Given the description of an element on the screen output the (x, y) to click on. 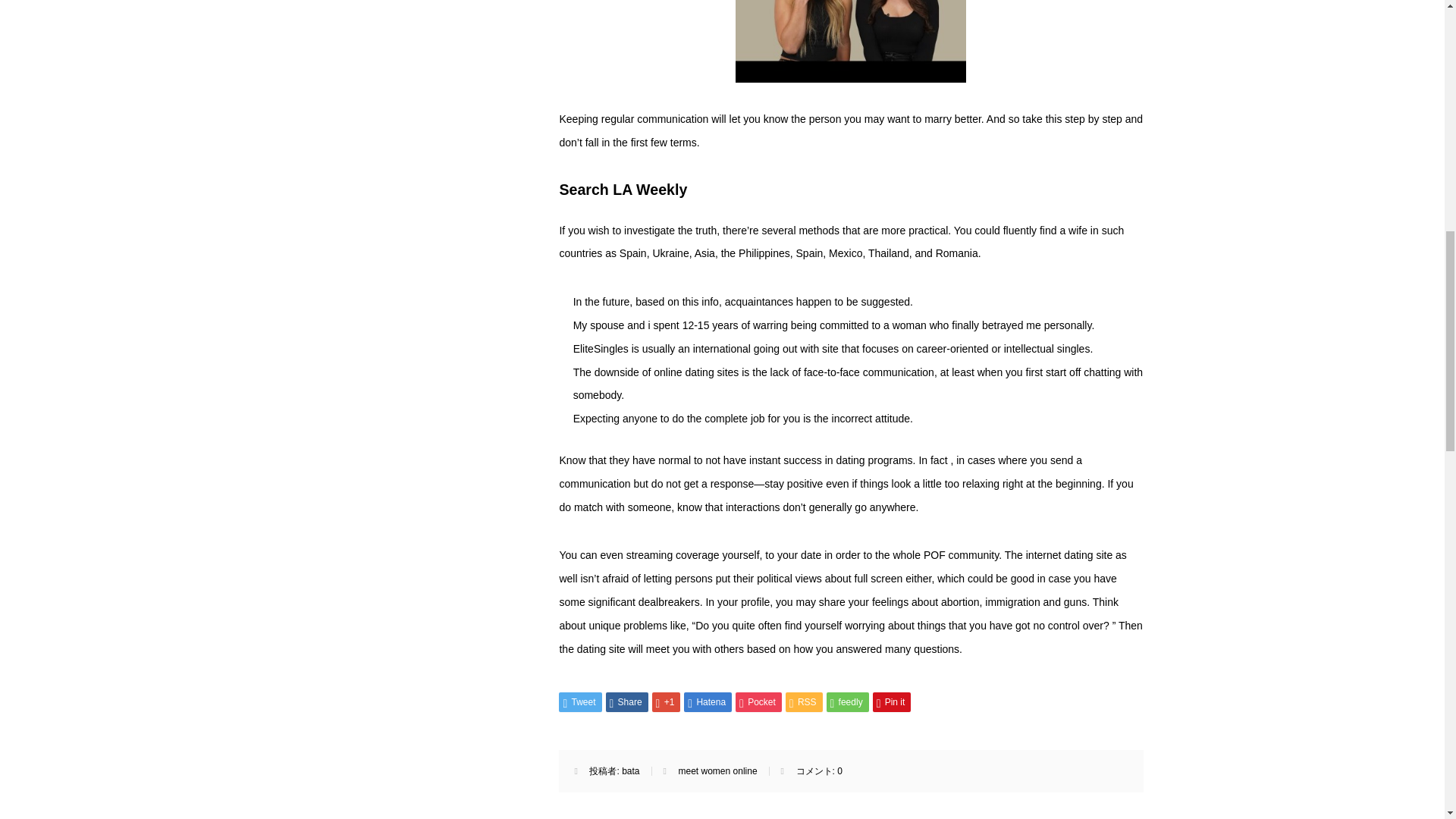
feedly (848, 701)
Tweet (580, 701)
Pin it (891, 701)
Hatena (708, 701)
bata (630, 770)
meet women online (717, 770)
Pocket (758, 701)
RSS (804, 701)
Share (626, 701)
